Given the description of an element on the screen output the (x, y) to click on. 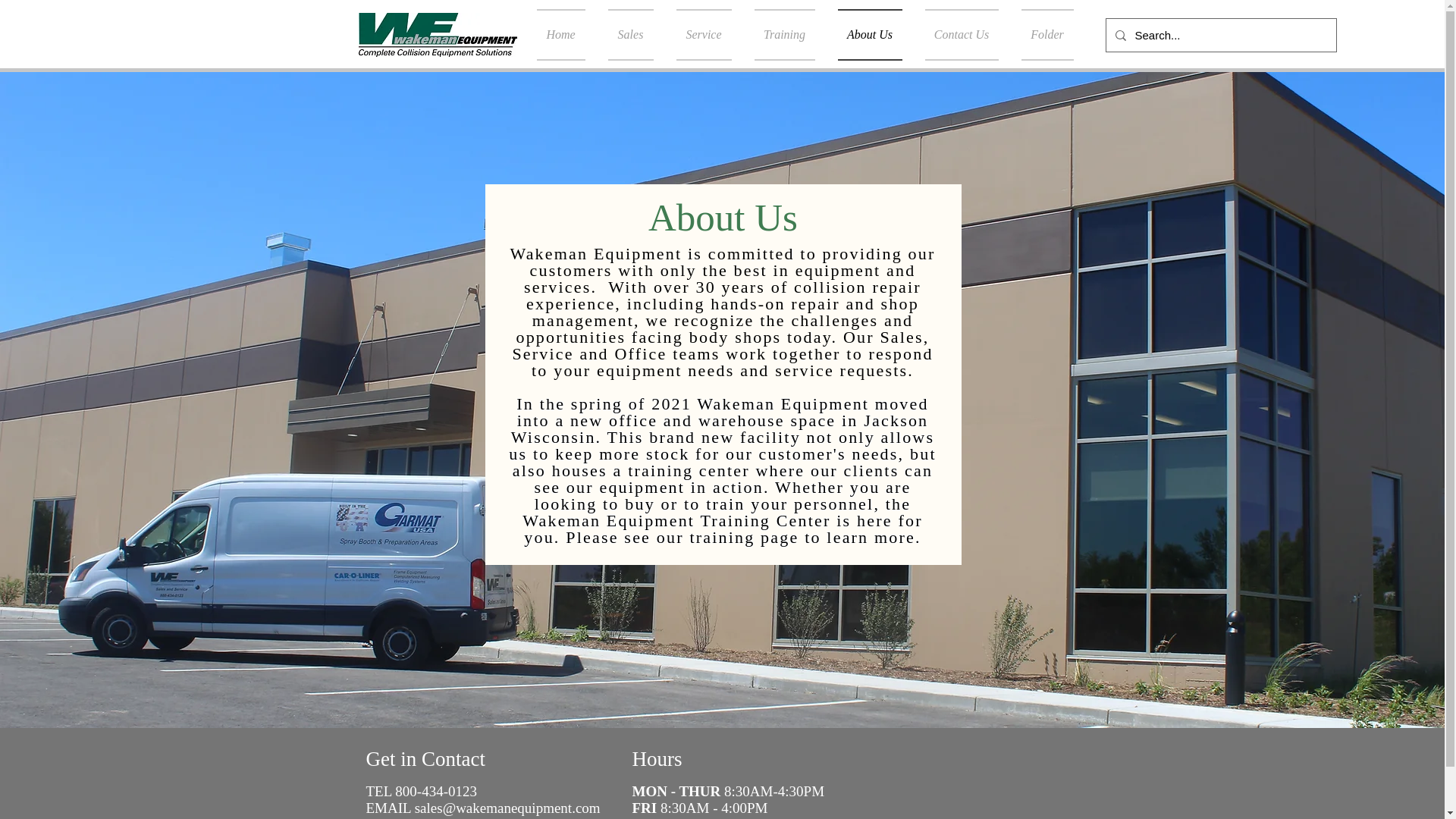
Home (566, 34)
Sales (629, 34)
Service (702, 34)
About Us (870, 34)
Contact Us (960, 34)
